Given the description of an element on the screen output the (x, y) to click on. 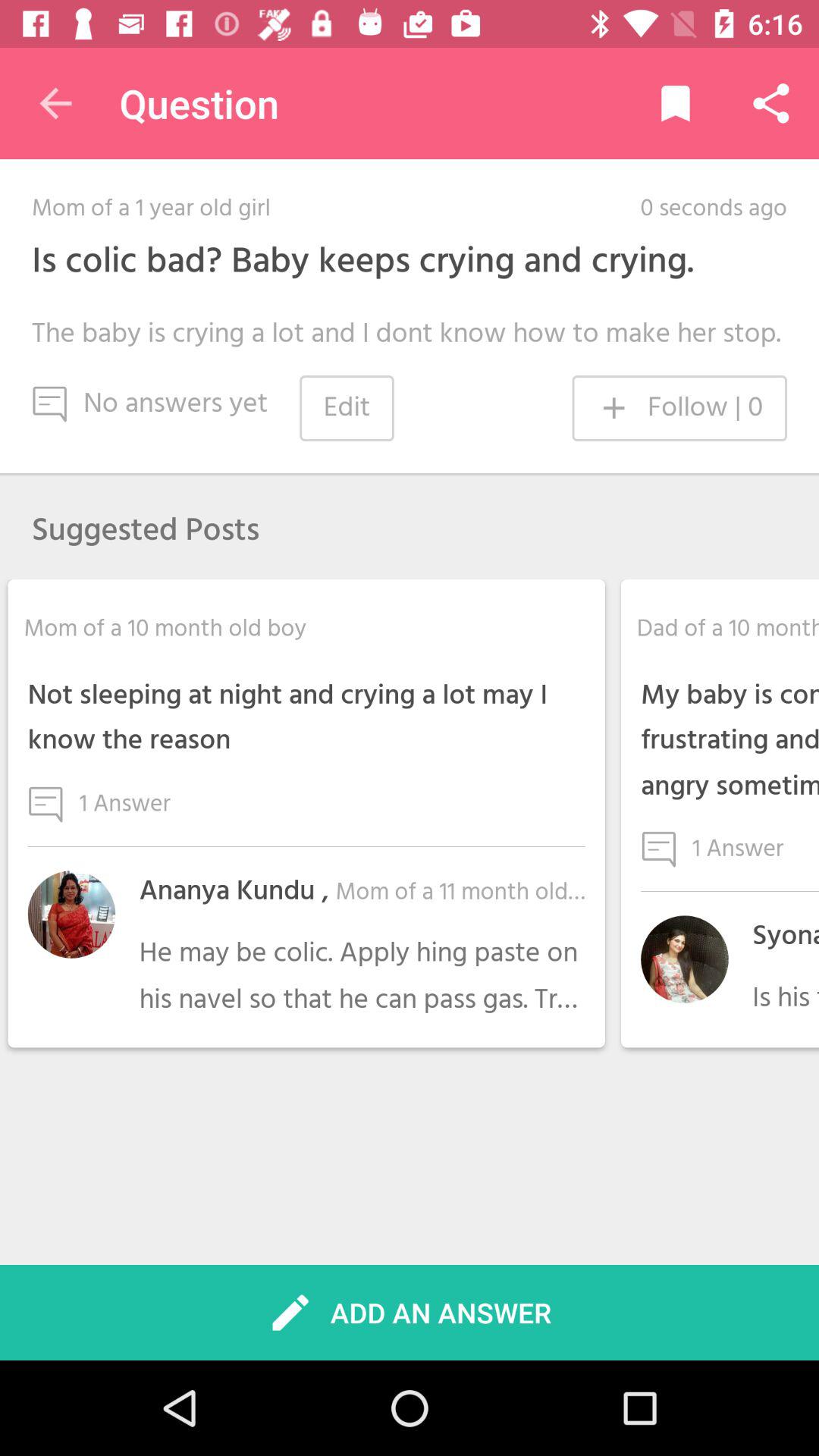
select the app to the right of question icon (675, 103)
